Given the description of an element on the screen output the (x, y) to click on. 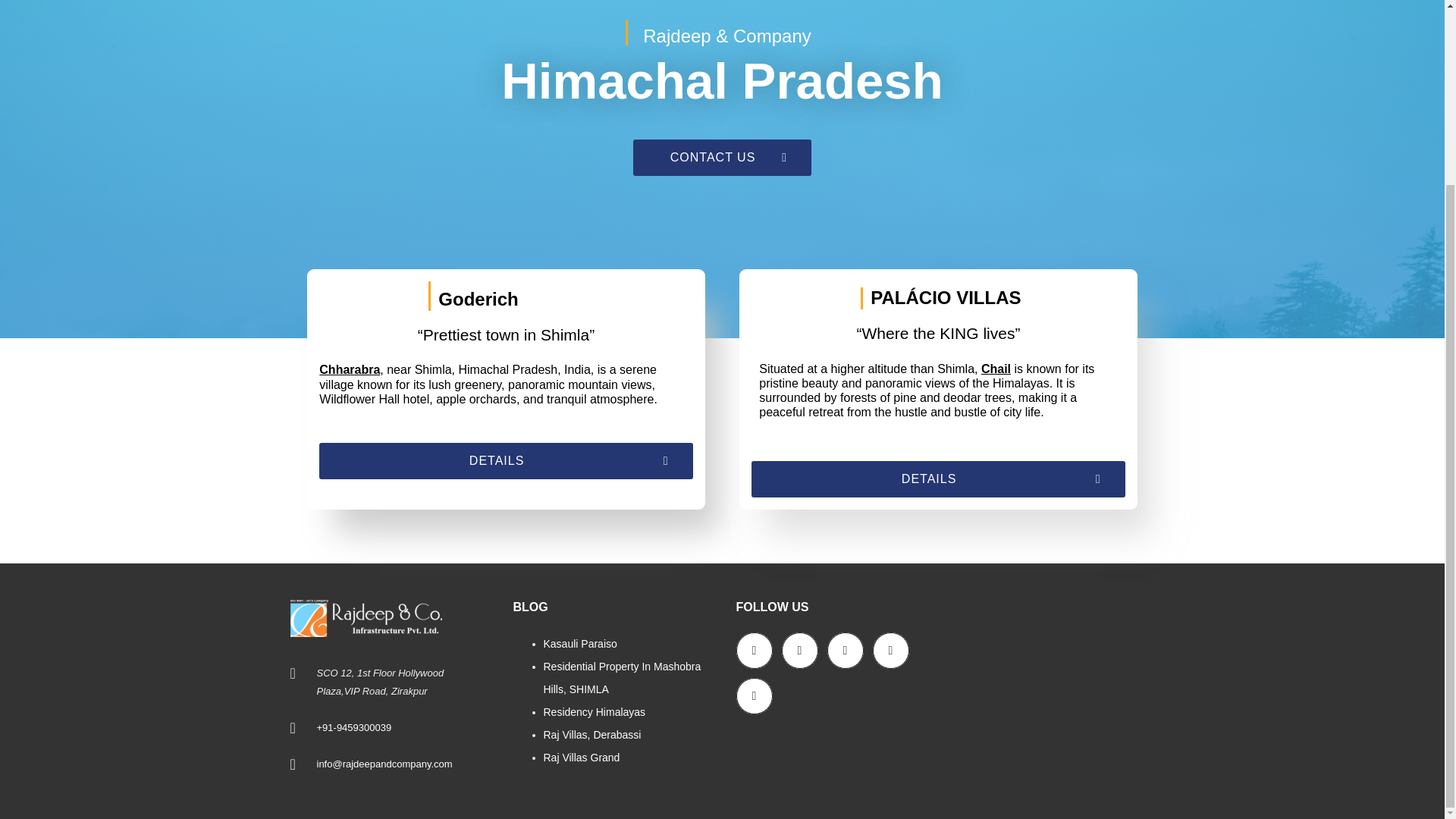
Residential Property In Mashobra Hills, SHIMLA (621, 677)
DETAILS (505, 493)
DETAILS (937, 506)
Raj Villas, Derabassi (591, 734)
Residency Himalayas (594, 711)
Raj Villas Grand (581, 757)
Kasauli Paraiso (579, 644)
CONTACT US (721, 157)
